Given the description of an element on the screen output the (x, y) to click on. 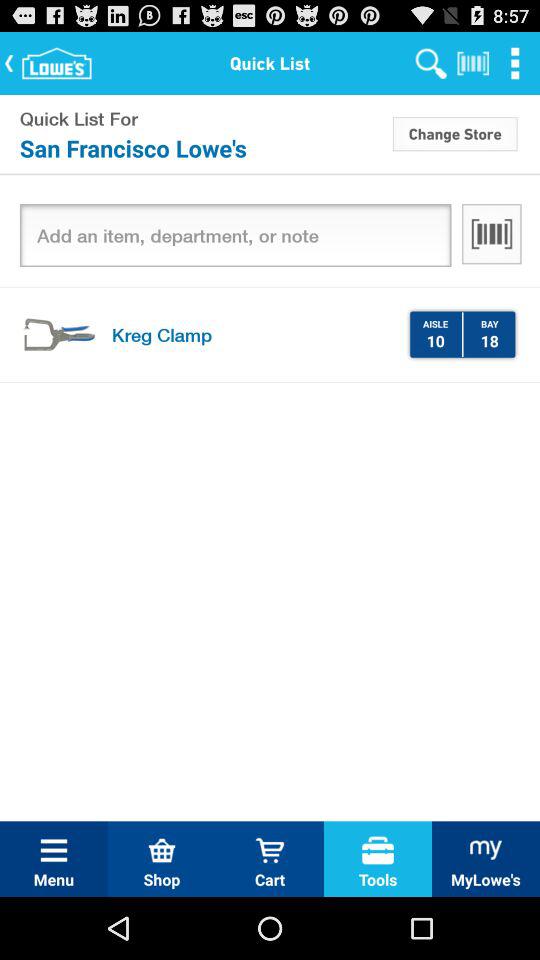
choose the san francisco lowe (204, 147)
